Given the description of an element on the screen output the (x, y) to click on. 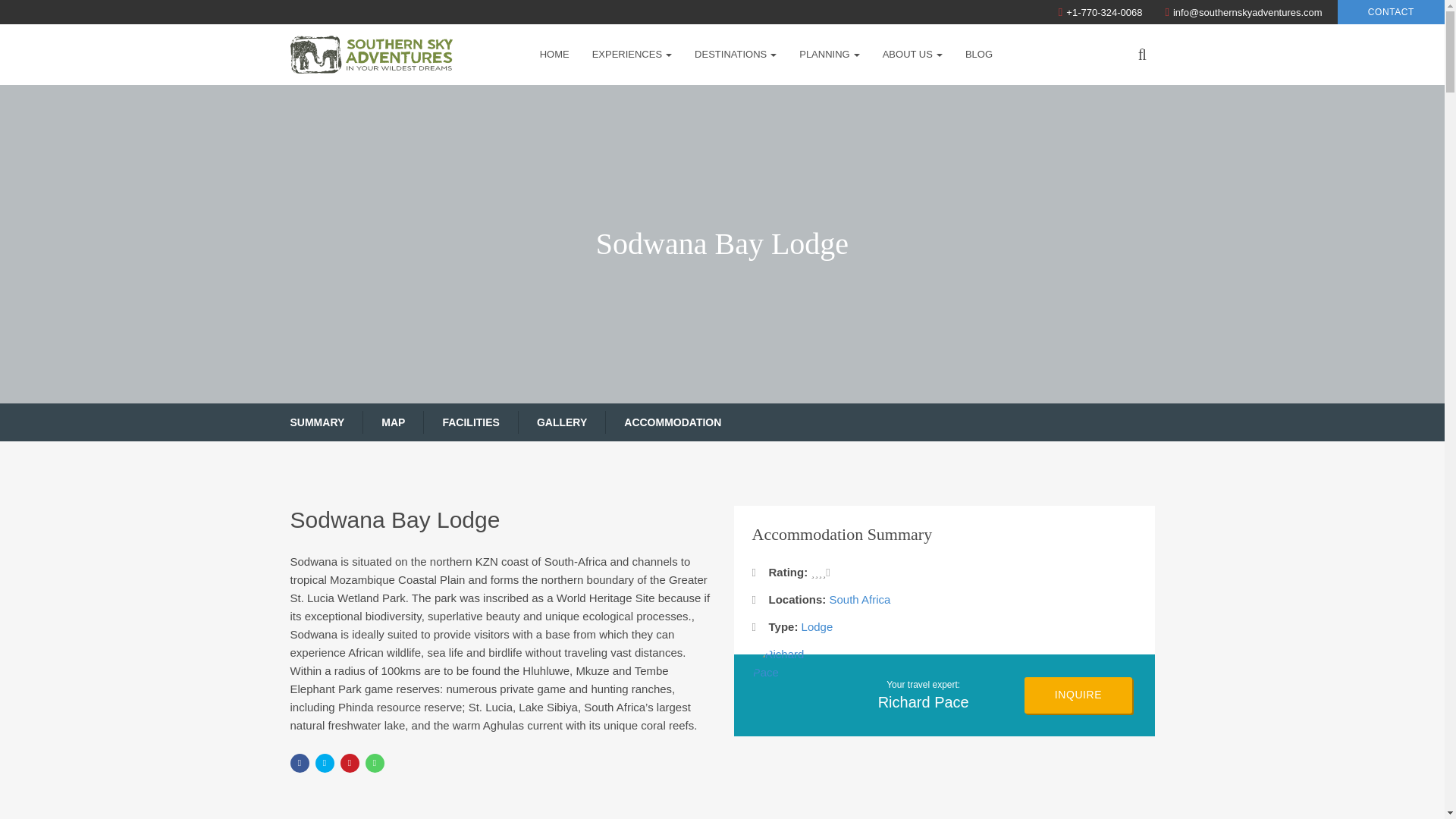
Luxury Safaris (675, 102)
Destinations (734, 54)
AFRICA (747, 102)
CONTACT (1391, 12)
Botswana (878, 102)
Experiences (728, 422)
Contact (631, 54)
AFRICA (1391, 12)
Botswana (747, 102)
